Given the description of an element on the screen output the (x, y) to click on. 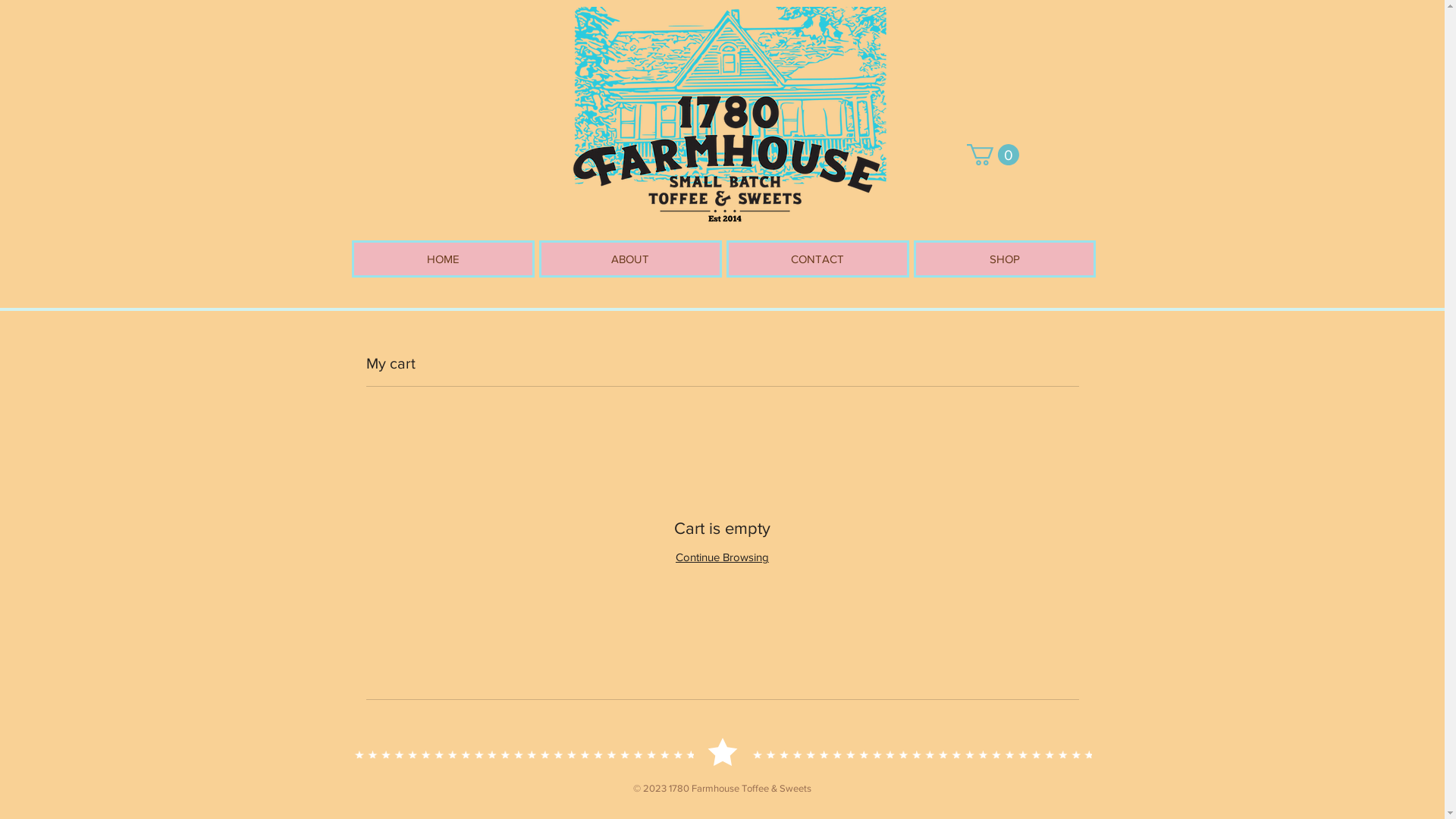
SHOP Element type: text (1004, 258)
0 Element type: text (992, 154)
HOME Element type: text (442, 258)
ABOUT Element type: text (629, 258)
CONTACT Element type: text (817, 258)
Continue Browsing Element type: text (721, 556)
